Given the description of an element on the screen output the (x, y) to click on. 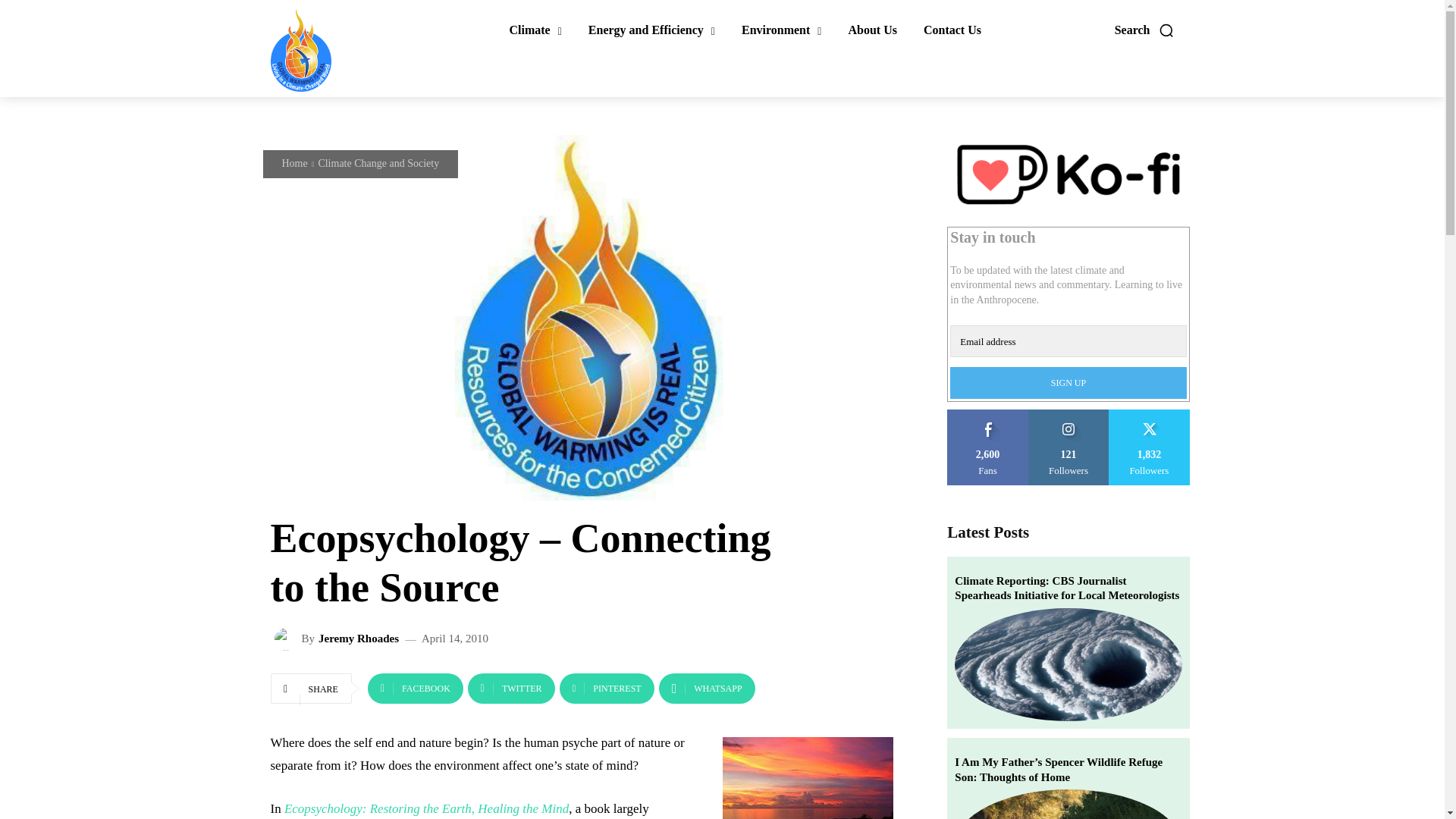
Search (1144, 30)
Climate (534, 30)
